Given the description of an element on the screen output the (x, y) to click on. 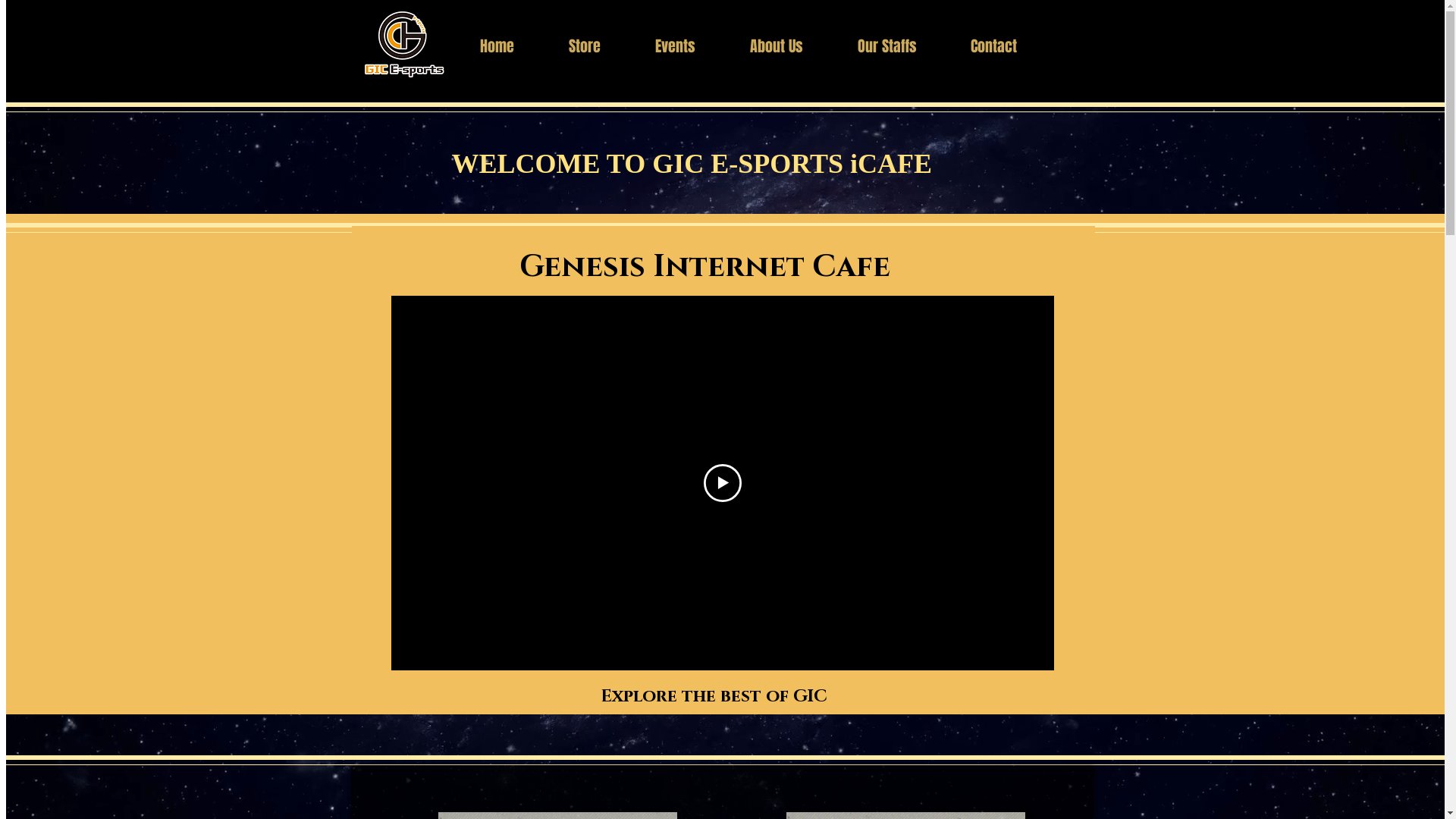
About Us Element type: text (792, 46)
Home Element type: text (512, 46)
Events Element type: text (690, 46)
Our Staffs Element type: text (902, 46)
Contact Element type: text (1008, 46)
Store Element type: text (599, 46)
